Given the description of an element on the screen output the (x, y) to click on. 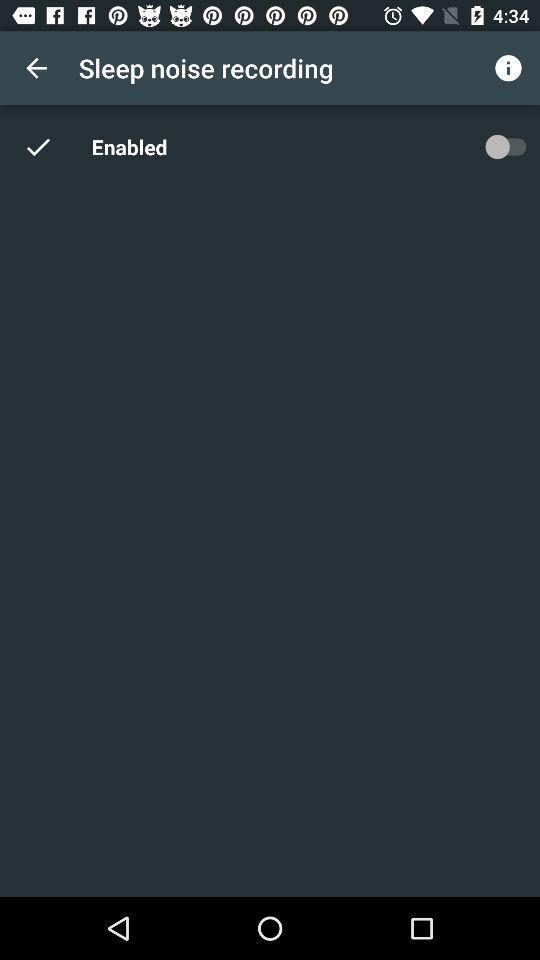
open icon next to sleep noise recording (508, 67)
